Given the description of an element on the screen output the (x, y) to click on. 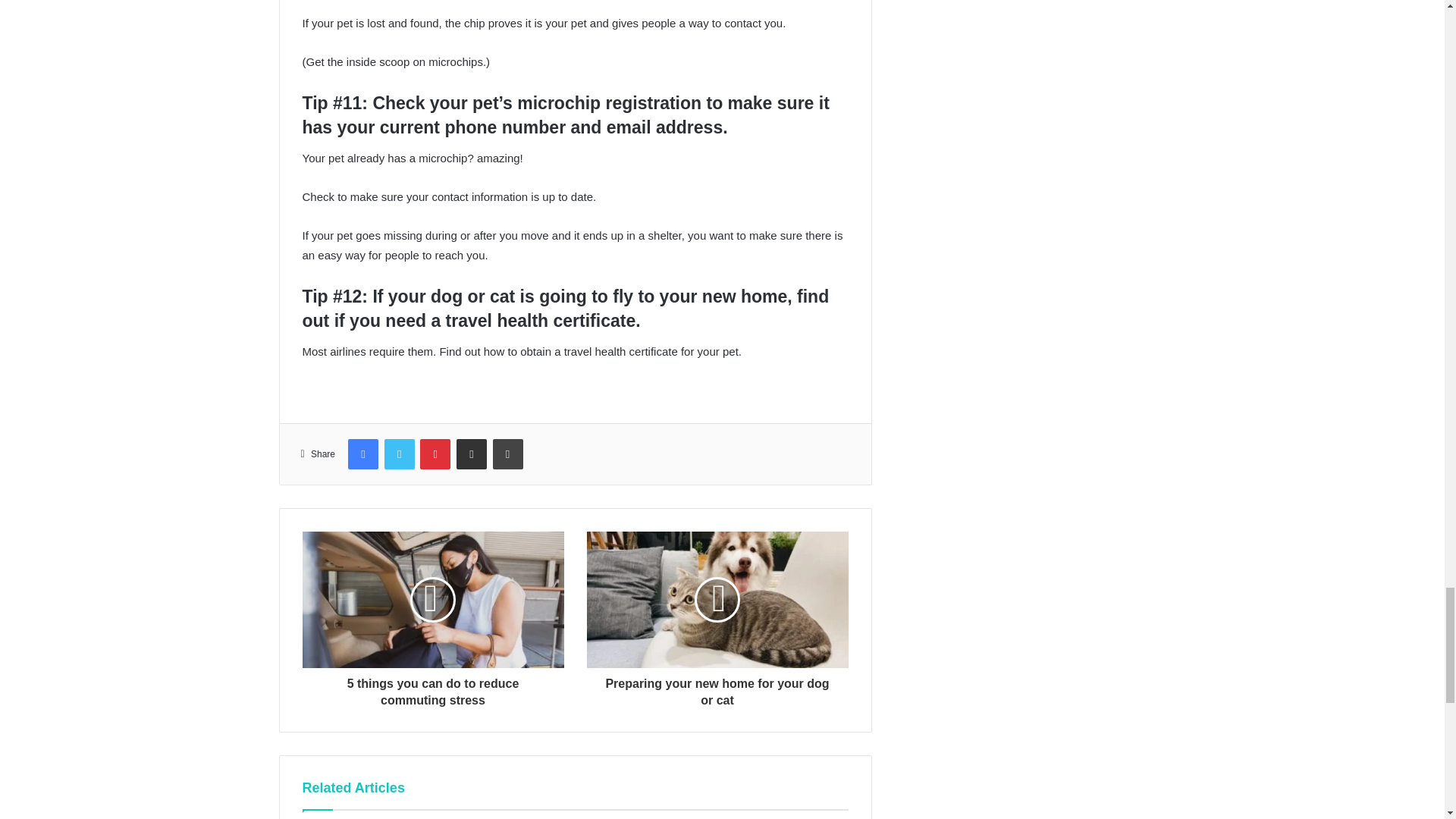
Share via Email (471, 453)
Twitter (399, 453)
5 things you can do to reduce commuting stress (432, 688)
Pinterest (434, 453)
Facebook (362, 453)
Preparing your new home for your dog or cat (717, 688)
Print (507, 453)
Facebook (362, 453)
